Given the description of an element on the screen output the (x, y) to click on. 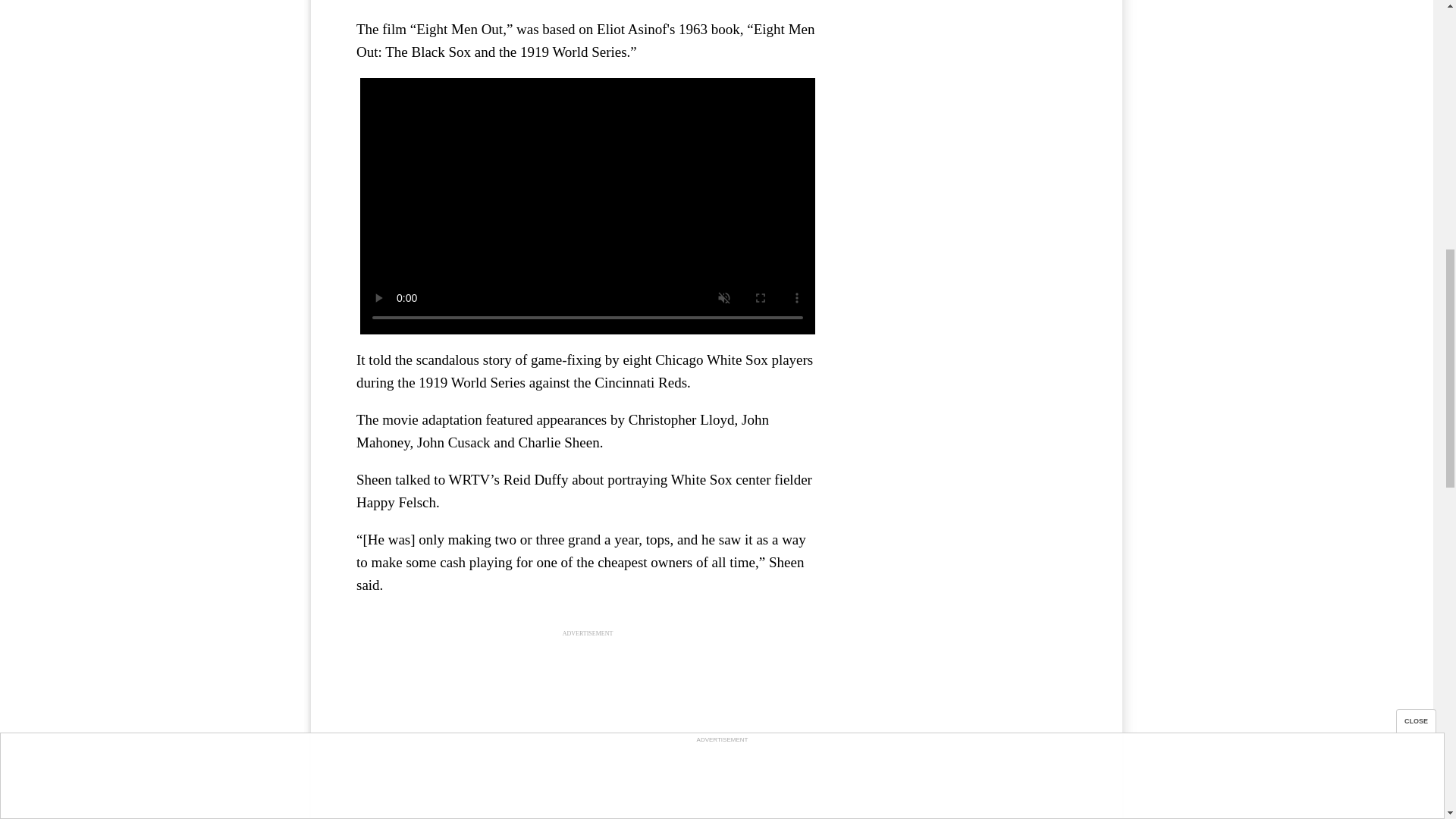
3rd party ad content (587, 734)
3rd party ad content (962, 118)
